Given the description of an element on the screen output the (x, y) to click on. 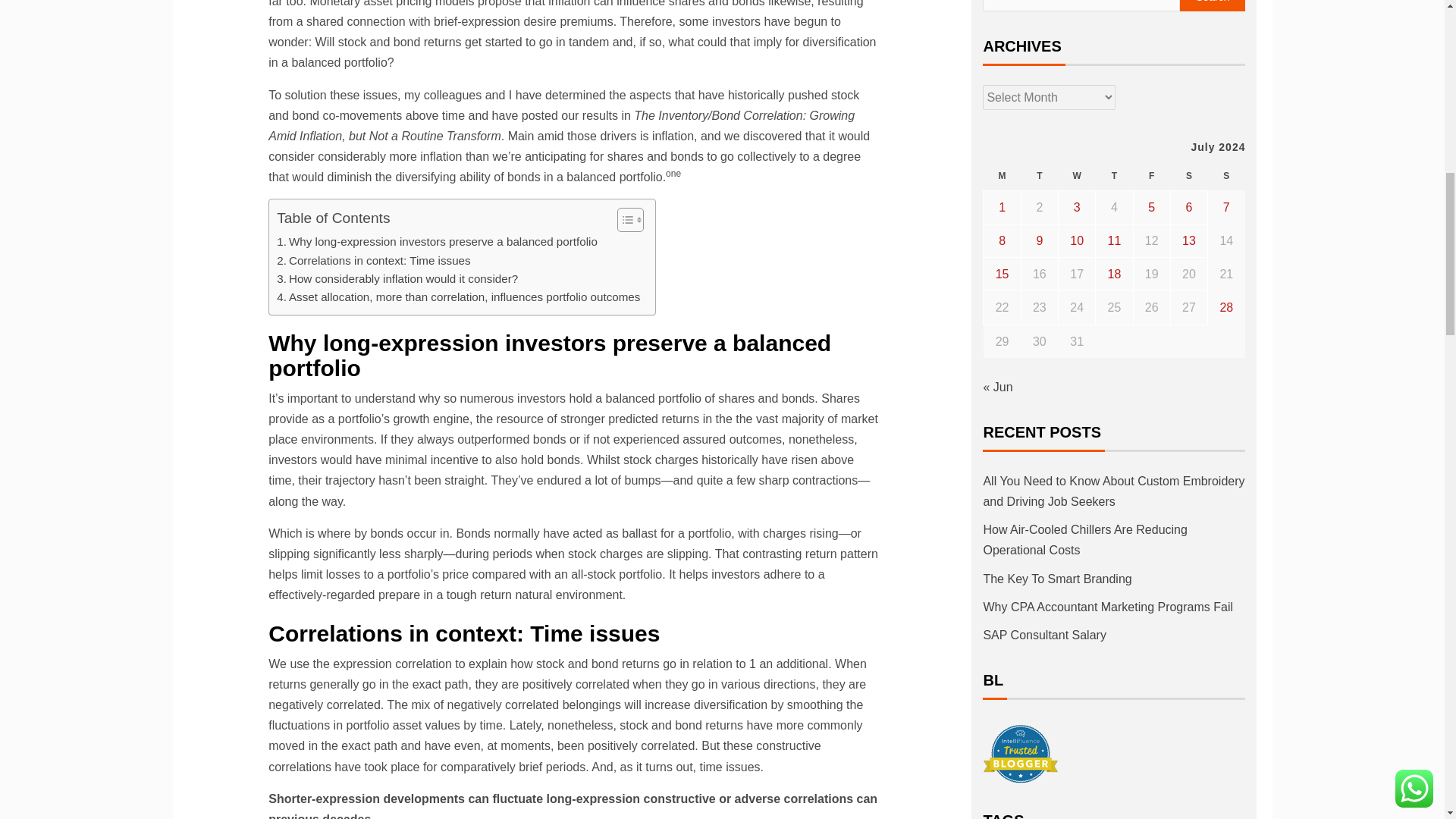
Search (1212, 5)
Correlations in context: Time issues (373, 260)
How considerably inflation would it consider? (397, 279)
How considerably inflation would it consider? (397, 279)
Why long-expression investors preserve a balanced portfolio (436, 241)
Search (1212, 5)
Why long-expression investors preserve a balanced portfolio (436, 241)
Correlations in context: Time issues (373, 260)
